Given the description of an element on the screen output the (x, y) to click on. 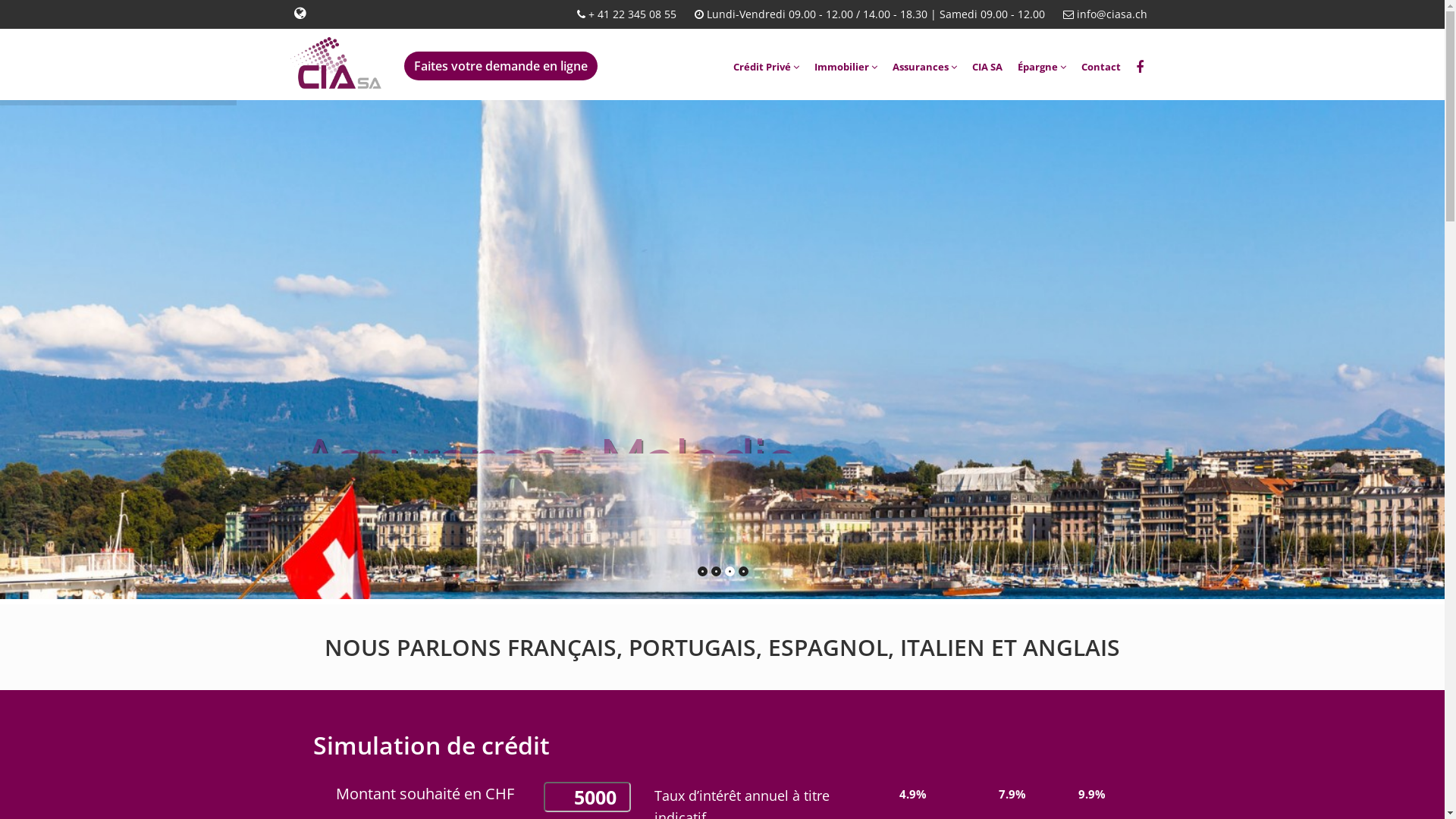
CIA SA Element type: text (987, 66)
Assurances Element type: text (923, 66)
Immobilier Element type: text (845, 66)
Faites votre demande en ligne Element type: text (499, 65)
 + 41 22 345 08 55 Element type: text (630, 13)
 info@ciasa.ch Element type: text (1110, 13)
Contact Element type: text (1100, 66)
